Given the description of an element on the screen output the (x, y) to click on. 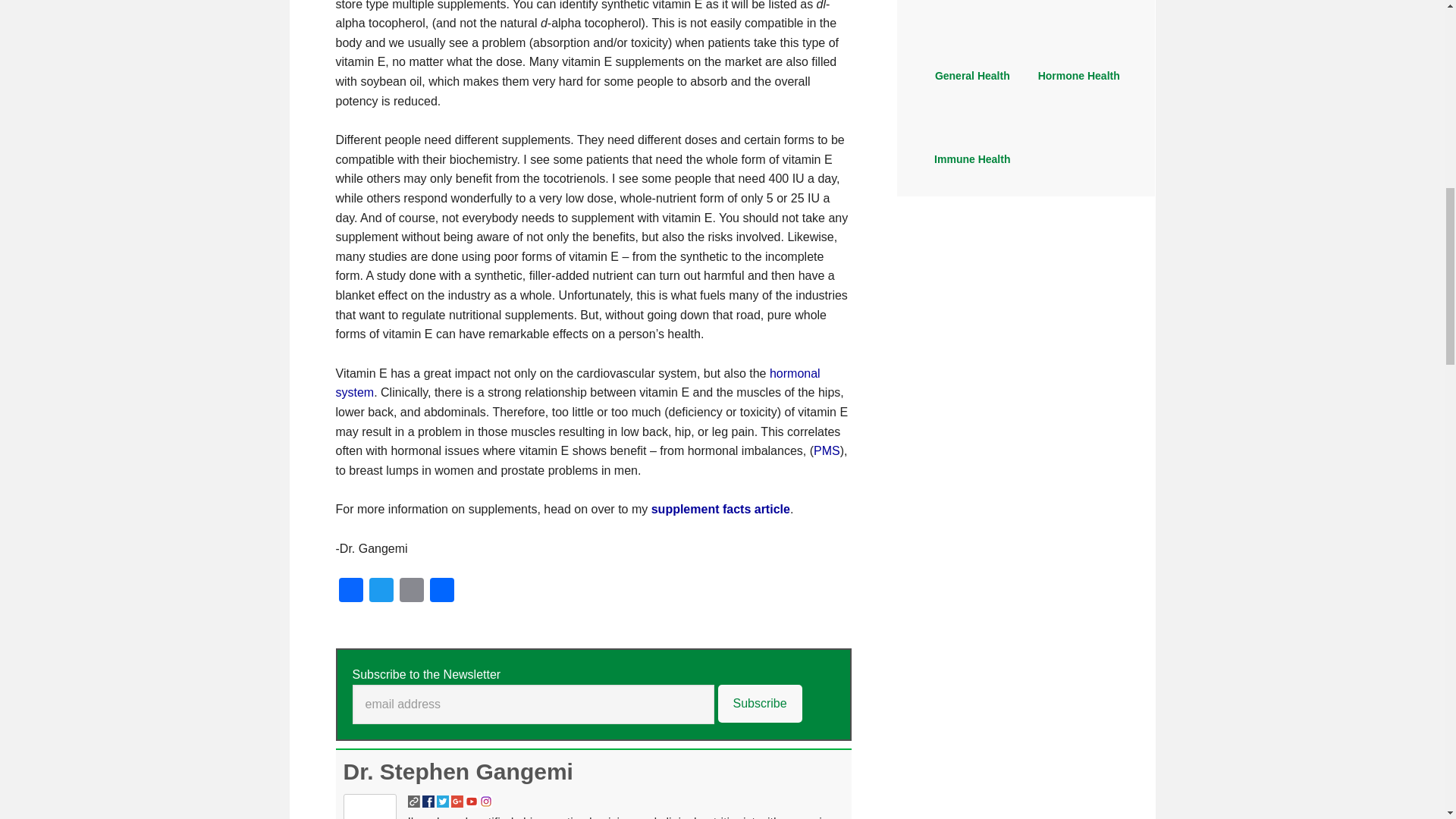
Hormone Health (1078, 61)
Email (411, 592)
Subscribe (759, 703)
Facebook (349, 592)
General Health (971, 61)
Twitter (380, 592)
hormonal system (576, 382)
General Health (972, 75)
Immune Health (971, 143)
All posts by Dr. Stephen Gangemi (457, 771)
